Given the description of an element on the screen output the (x, y) to click on. 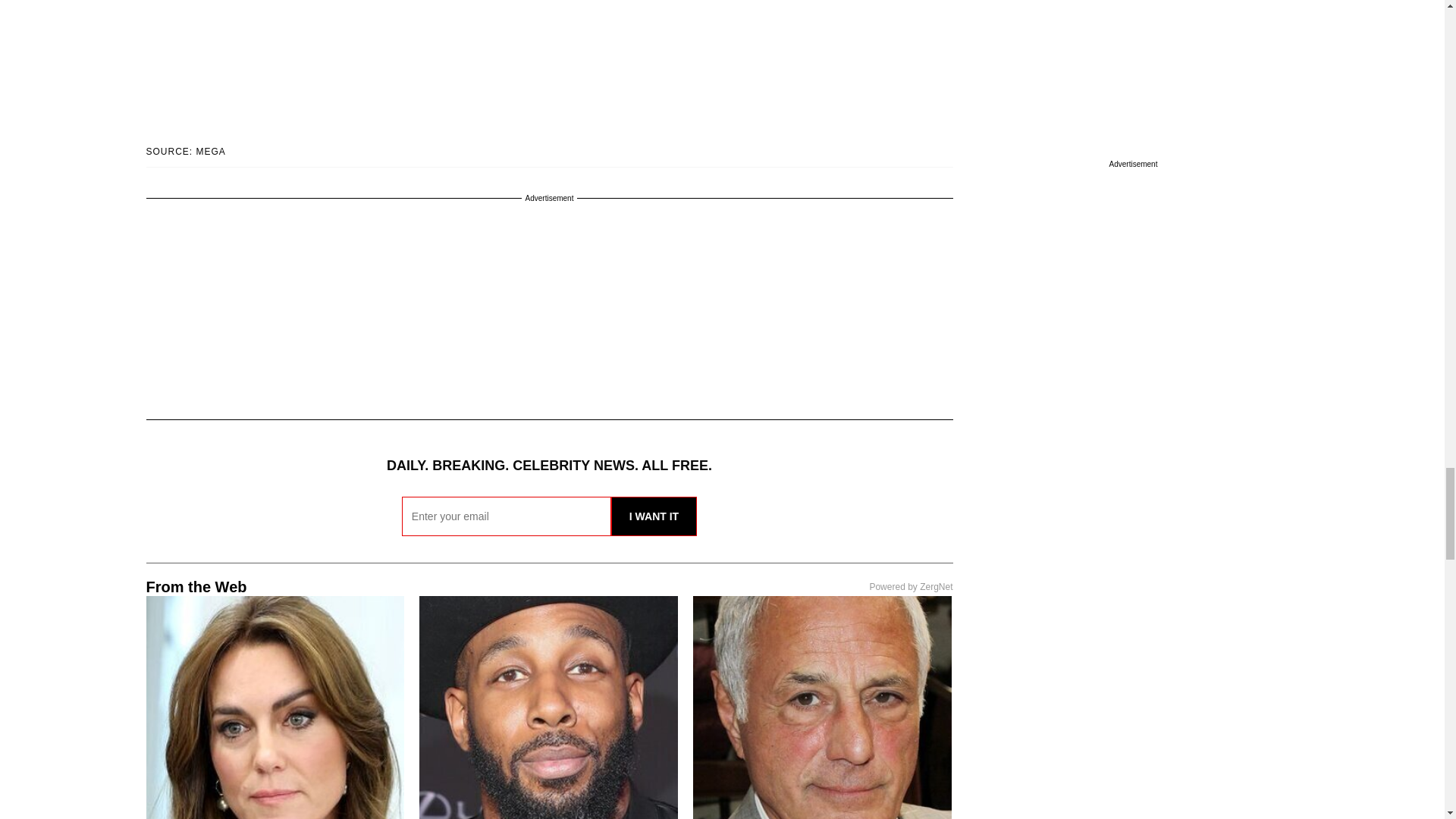
Powered by ZergNet (910, 586)
I WANT IT (654, 516)
I WANT IT (654, 516)
